Given the description of an element on the screen output the (x, y) to click on. 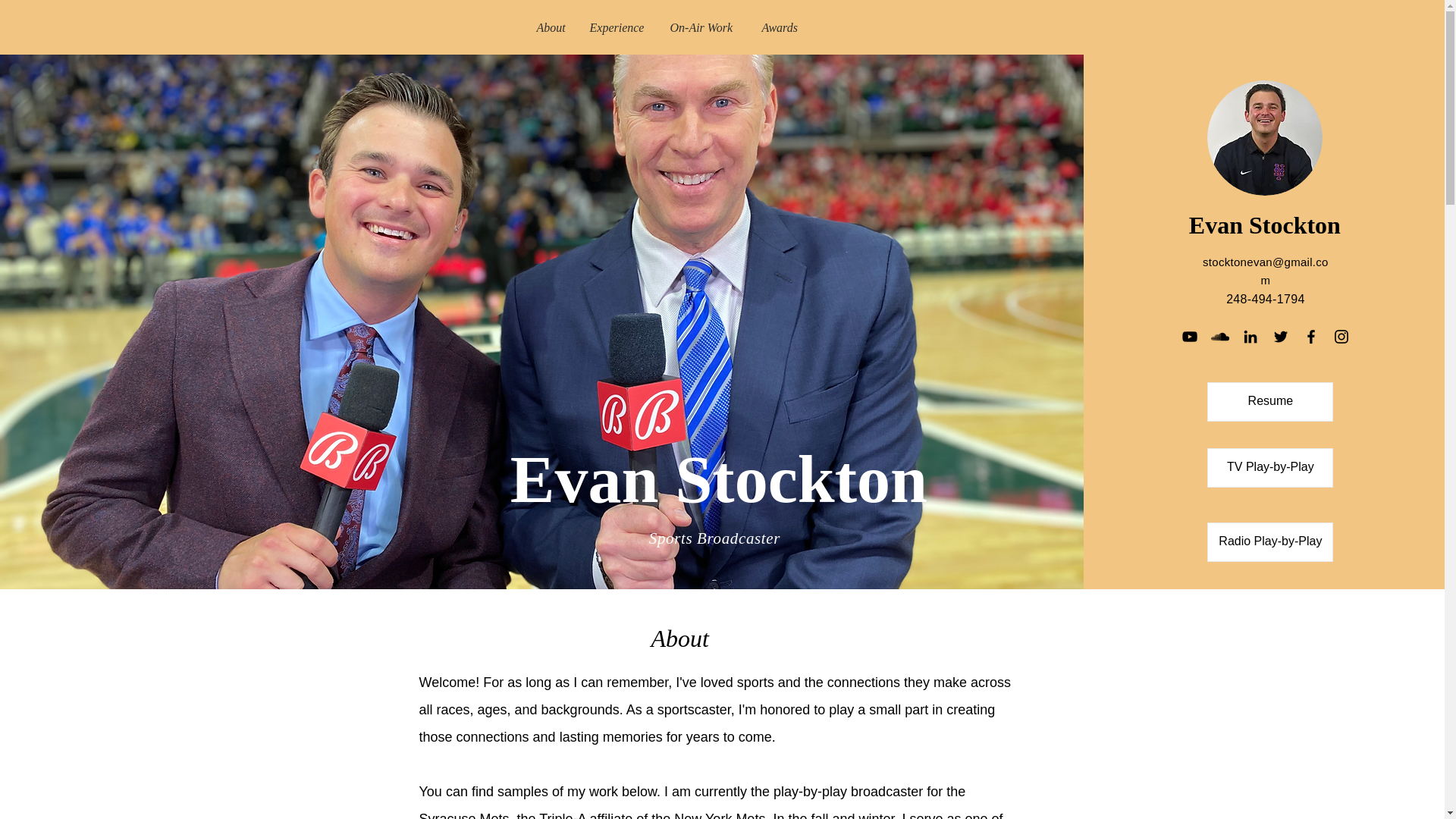
TV Play-by-Play (1270, 467)
Radio Play-by-Play (1270, 541)
Resume (1270, 401)
About (551, 27)
Experience (618, 27)
Awards (781, 27)
On-Air Work (703, 27)
